Given the description of an element on the screen output the (x, y) to click on. 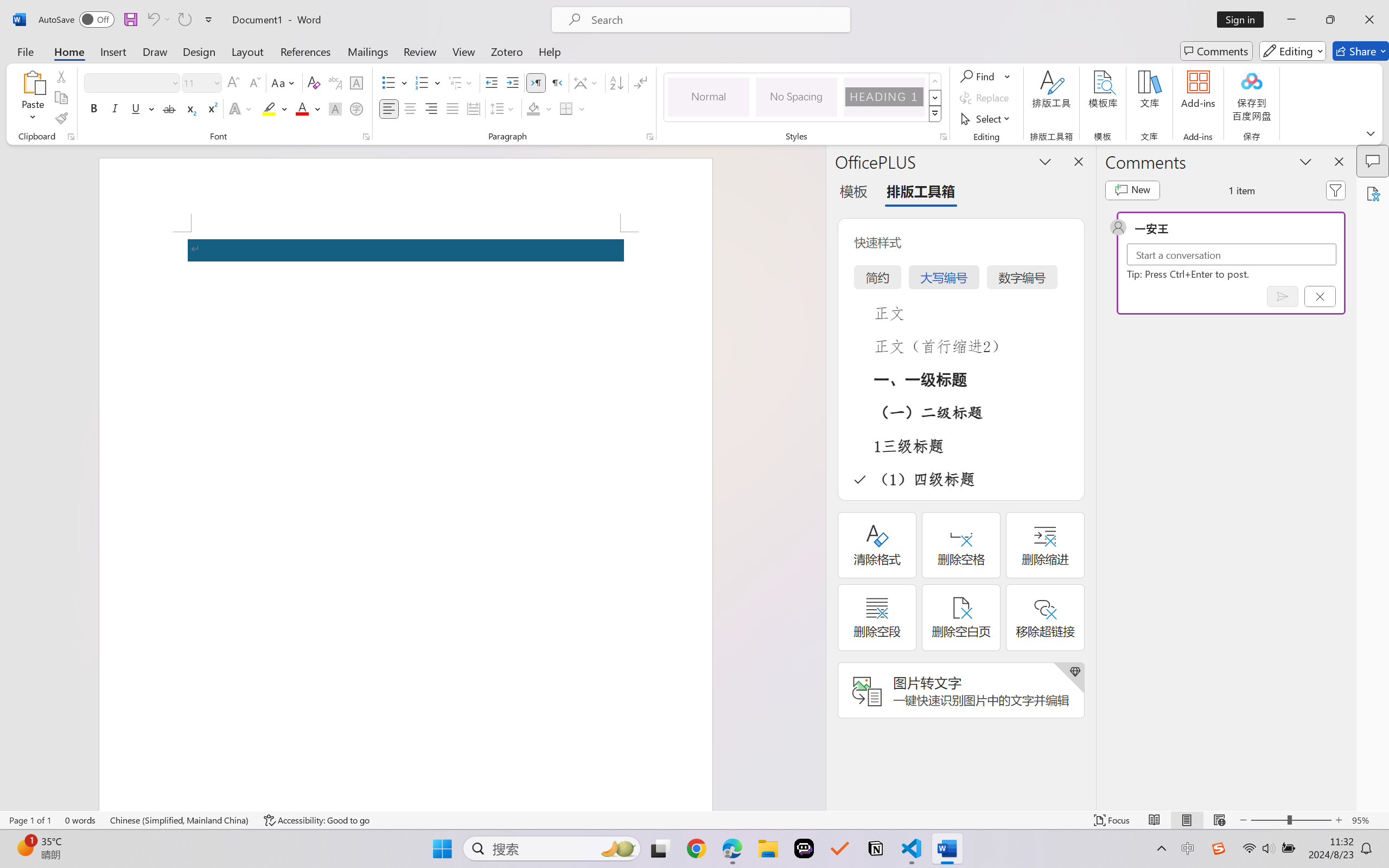
Accessibility Assistant (1373, 193)
Left-to-Right (535, 82)
Repeat Accessibility Checker (184, 19)
